Given the description of an element on the screen output the (x, y) to click on. 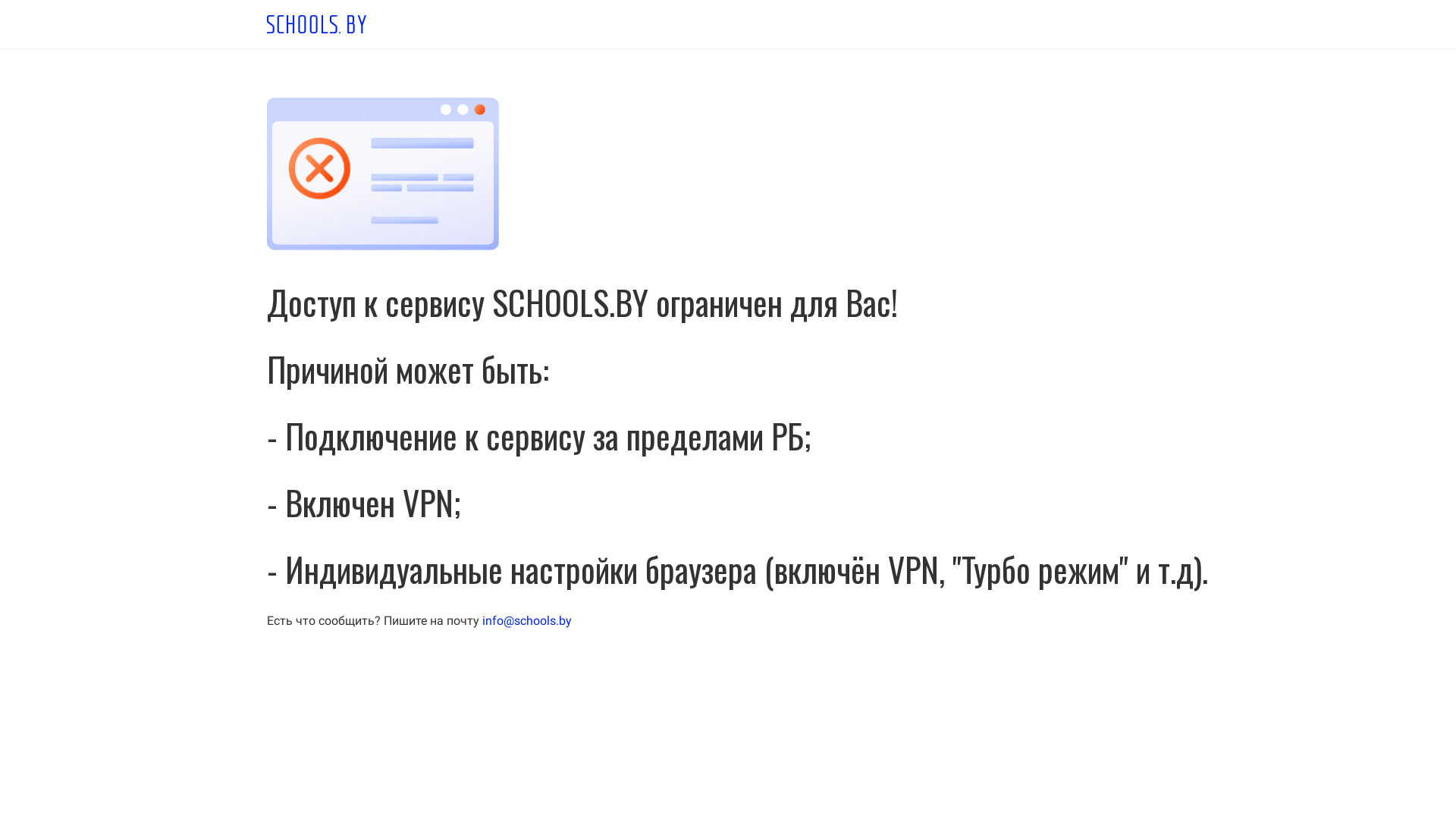
info@schools.by Element type: text (526, 620)
